Given the description of an element on the screen output the (x, y) to click on. 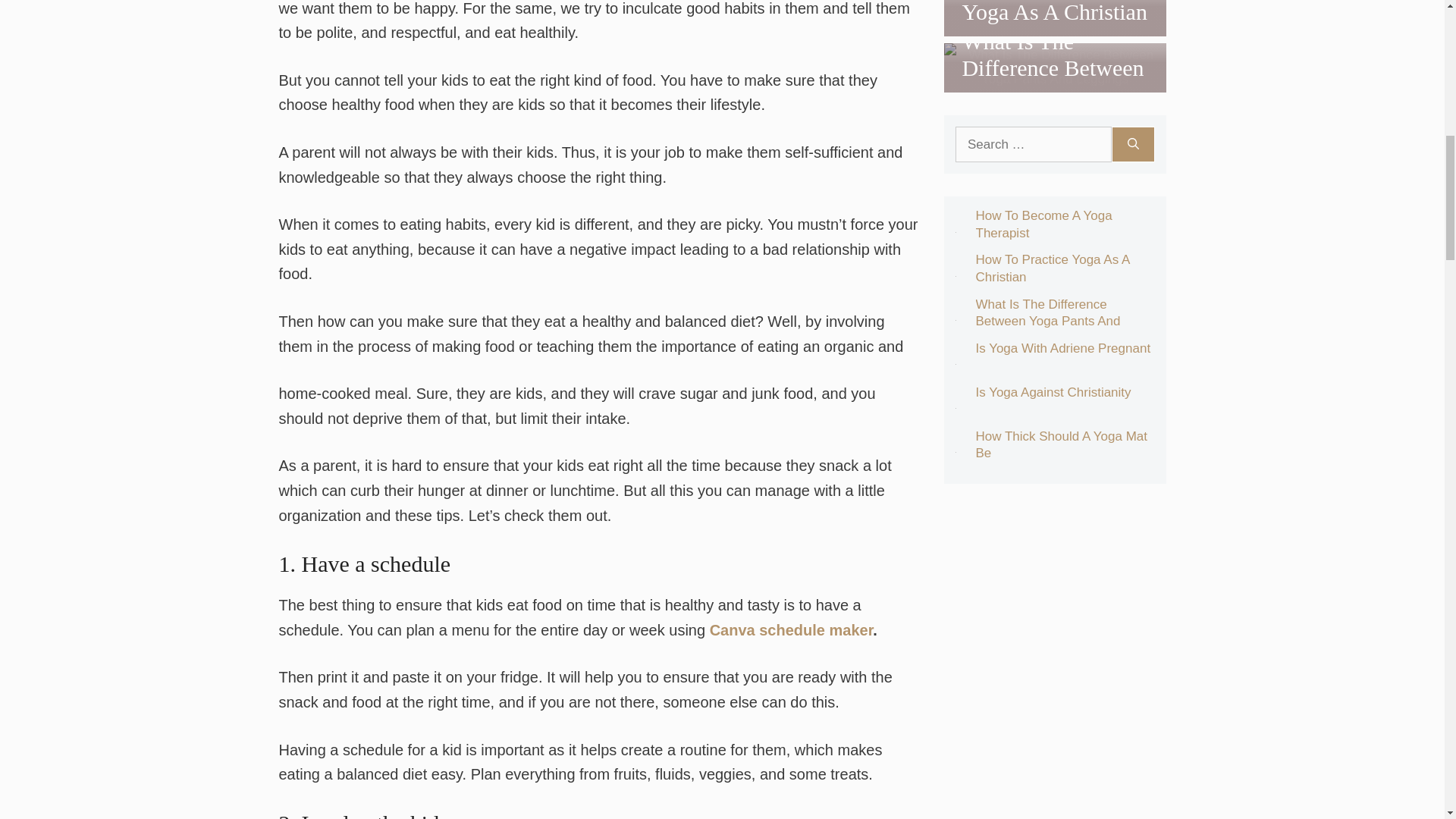
Canva schedule maker (791, 629)
Search for: (1033, 144)
How To Practice Yoga As A Christian (1054, 23)
What Is The Difference Between Yoga Pants And Leggings (1054, 79)
How To Practice Yoga As A Christian (1053, 12)
